Given the description of an element on the screen output the (x, y) to click on. 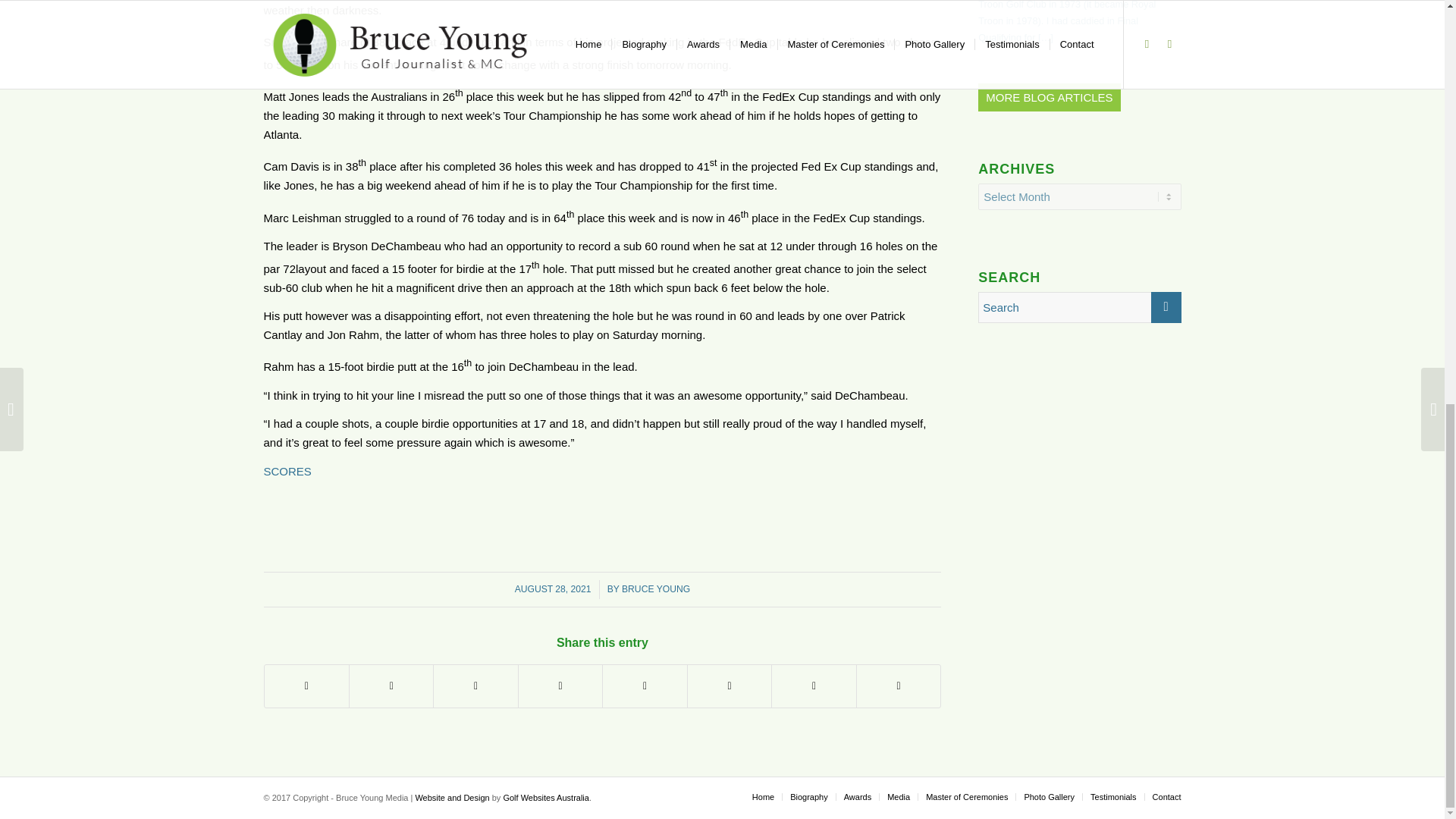
Website and Design (451, 797)
SCORES (287, 471)
Posts by Bruce Young (655, 588)
BRUCE YOUNG (655, 588)
Golf Websites Australia (545, 797)
MORE BLOG ARTICLES (1048, 97)
